Given the description of an element on the screen output the (x, y) to click on. 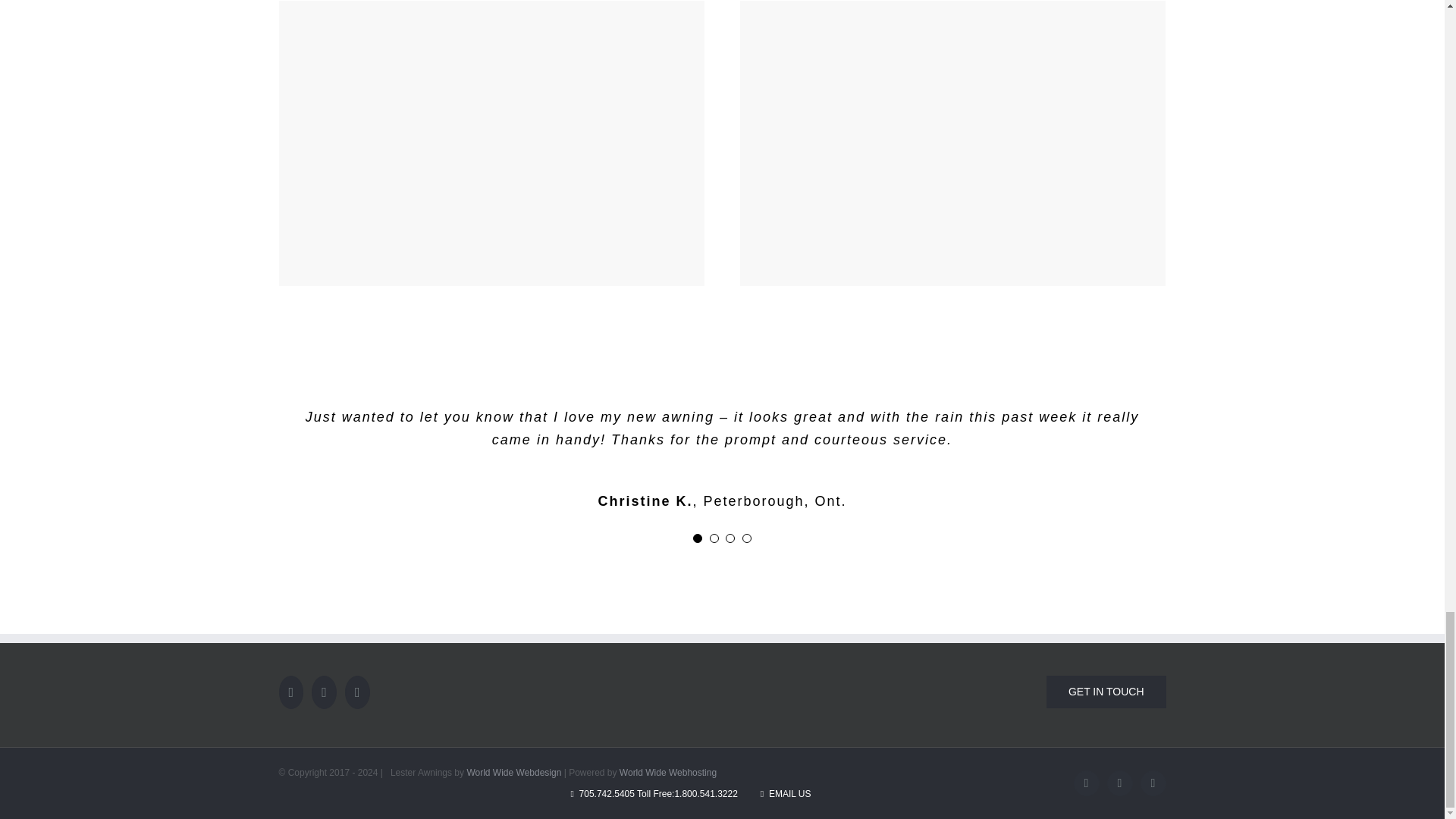
Facebook (1086, 783)
Instagram (1153, 783)
YouTube (1119, 783)
